Given the description of an element on the screen output the (x, y) to click on. 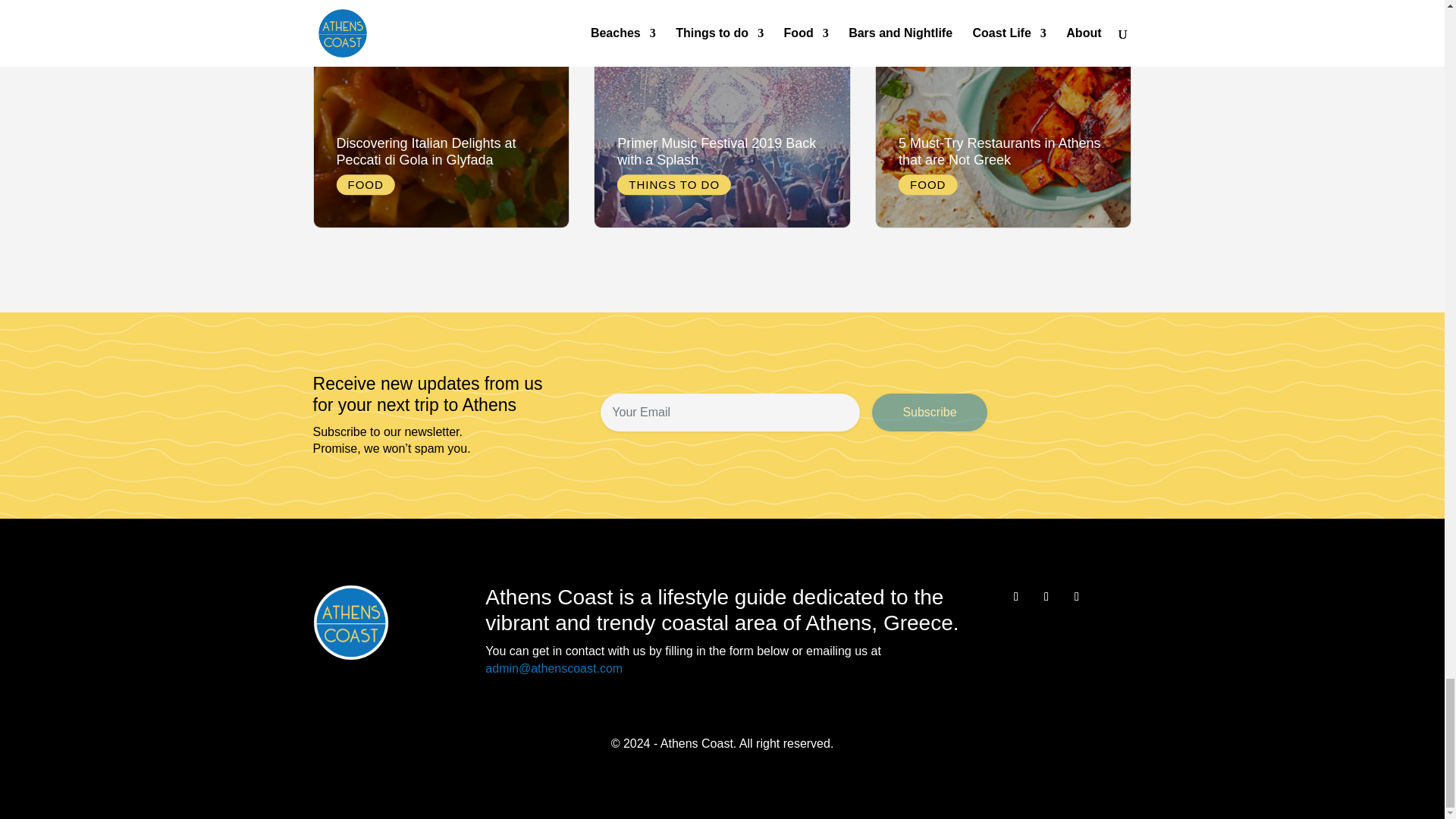
Subscribe (929, 412)
Follow on Facebook (1015, 596)
Follow on Instagram (1076, 596)
Follow on X (1045, 596)
athens-coast-beach-bw (350, 622)
